Given the description of an element on the screen output the (x, y) to click on. 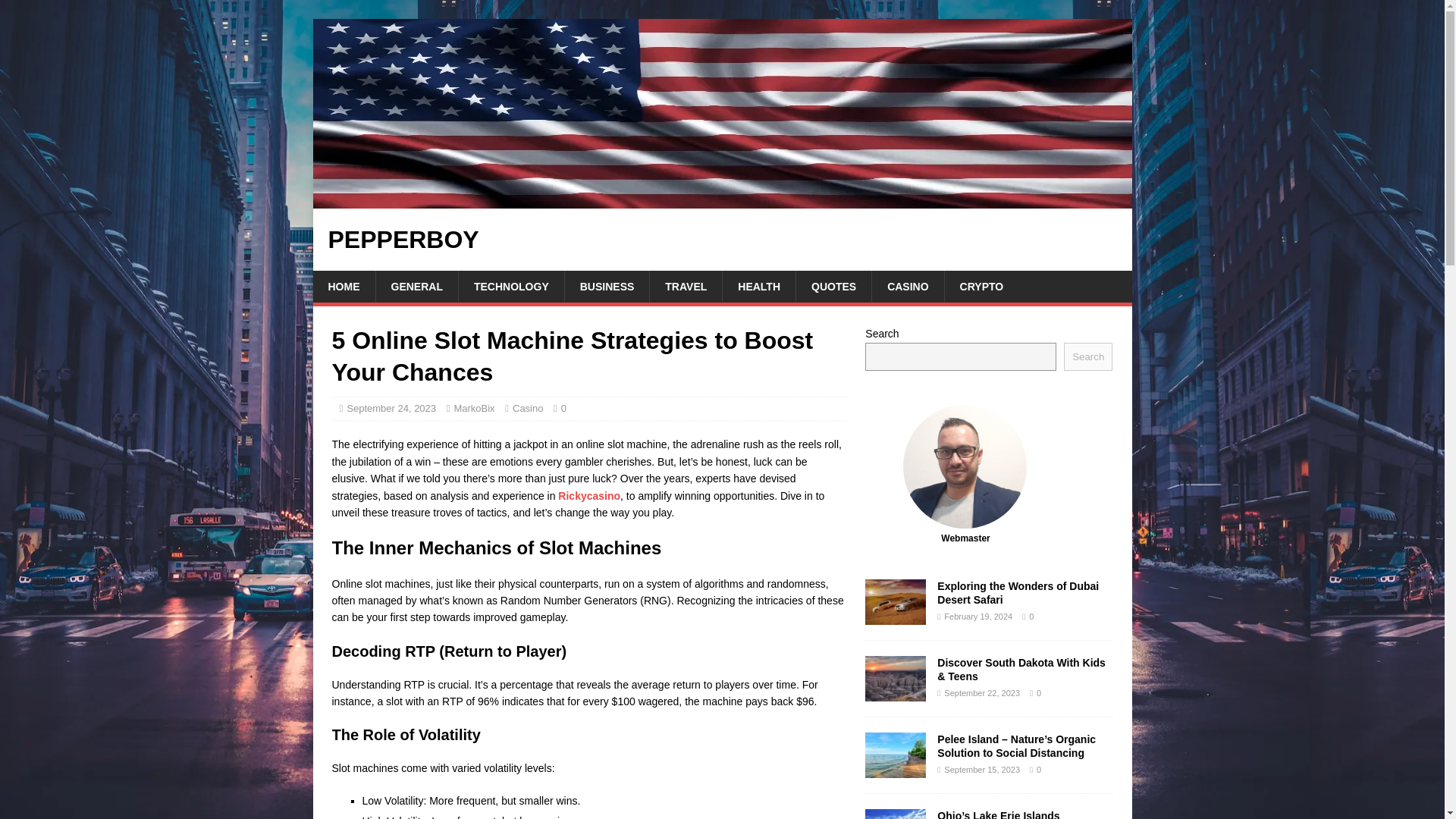
MarkoBix (473, 408)
TRAVEL (685, 286)
HEALTH (758, 286)
Exploring the Wonders of Dubai Desert Safari (1018, 592)
Rickycasino (588, 495)
Pepperboy (722, 200)
CASINO (906, 286)
TECHNOLOGY (511, 286)
CRYPTO (981, 286)
HOME (343, 286)
